Given the description of an element on the screen output the (x, y) to click on. 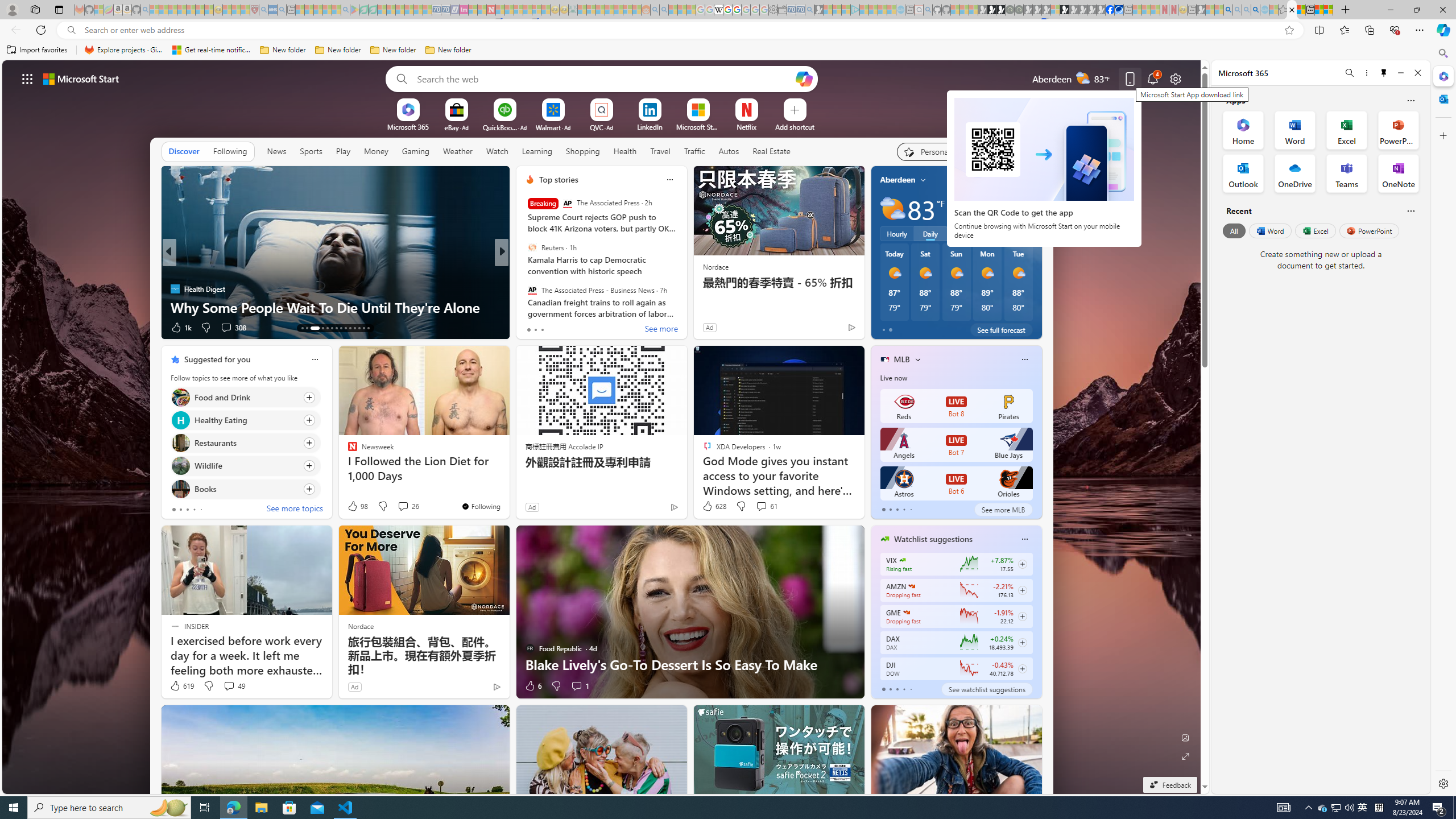
More interests (917, 359)
Click to follow topic Food and Drink (245, 397)
OneDrive Office App (1295, 172)
View comments 67 Comment (581, 327)
Edit Background (1185, 737)
Word Office App (1295, 129)
69 Like (530, 327)
